Given the description of an element on the screen output the (x, y) to click on. 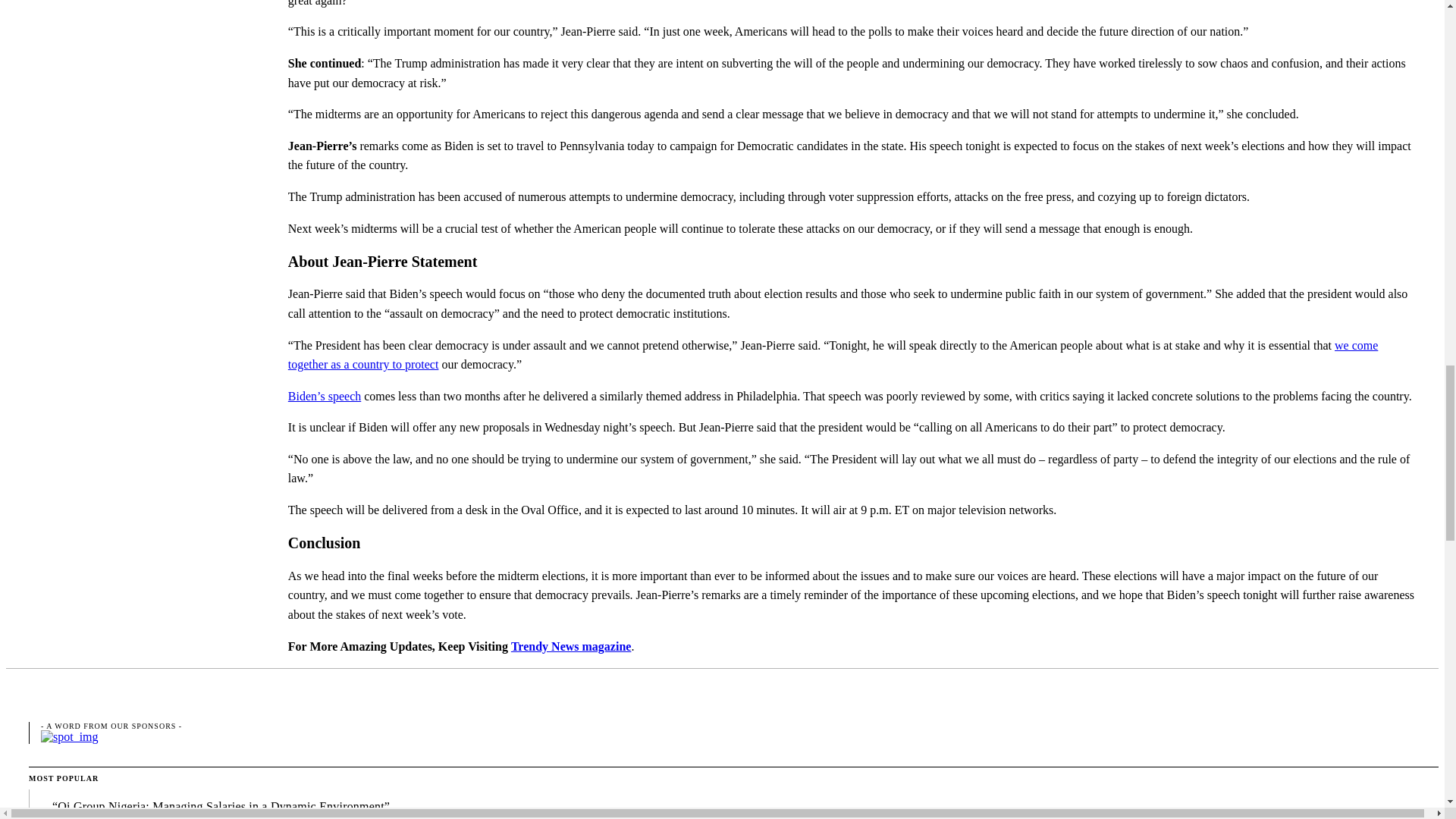
Trendy News magazine (571, 645)
we come together as a country to protect (833, 354)
